Given the description of an element on the screen output the (x, y) to click on. 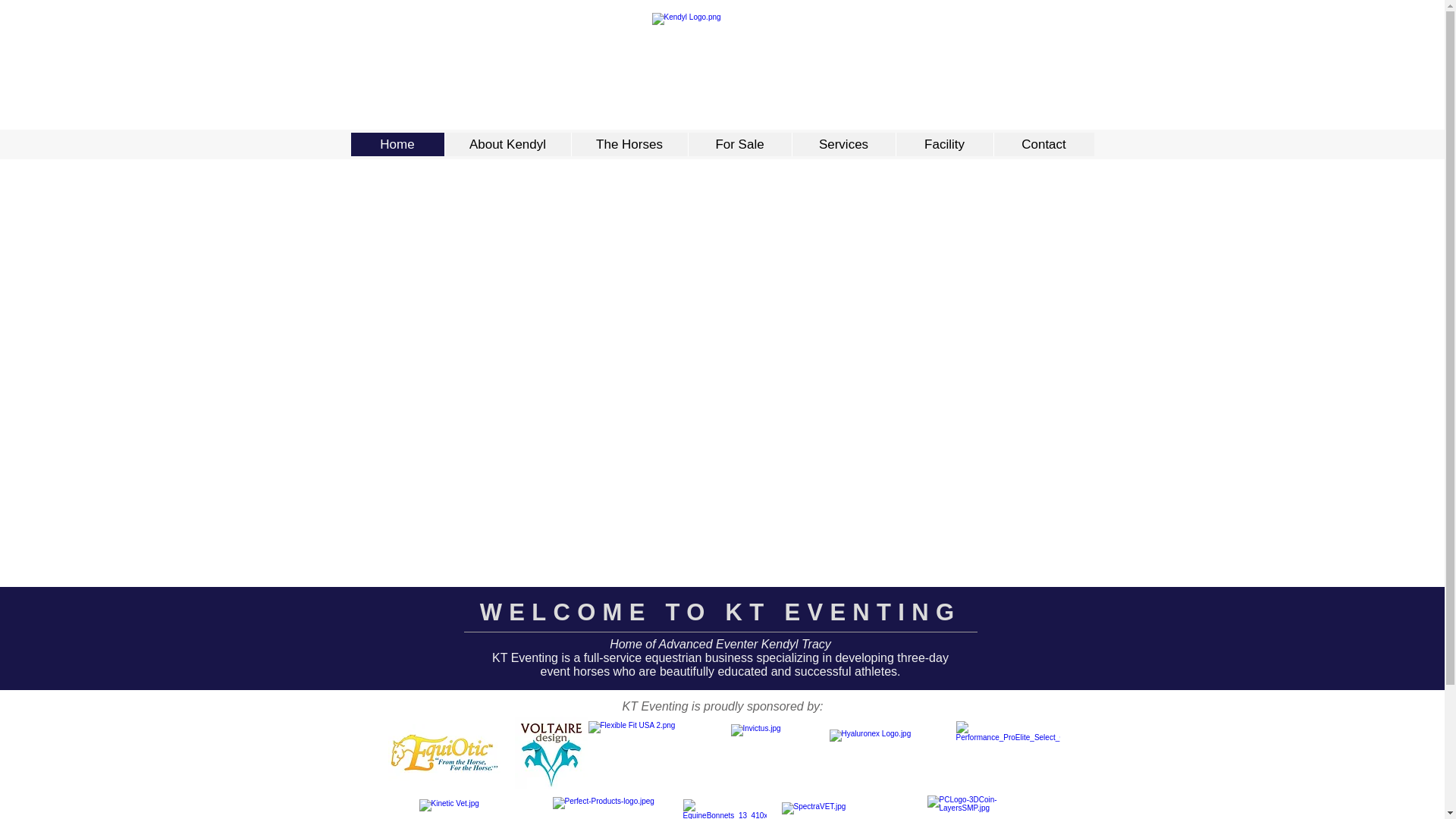
Services (843, 144)
About Kendyl (507, 144)
The Horses (628, 144)
Home (397, 144)
For Sale (738, 144)
Facility (943, 144)
Contact (1043, 144)
